Given the description of an element on the screen output the (x, y) to click on. 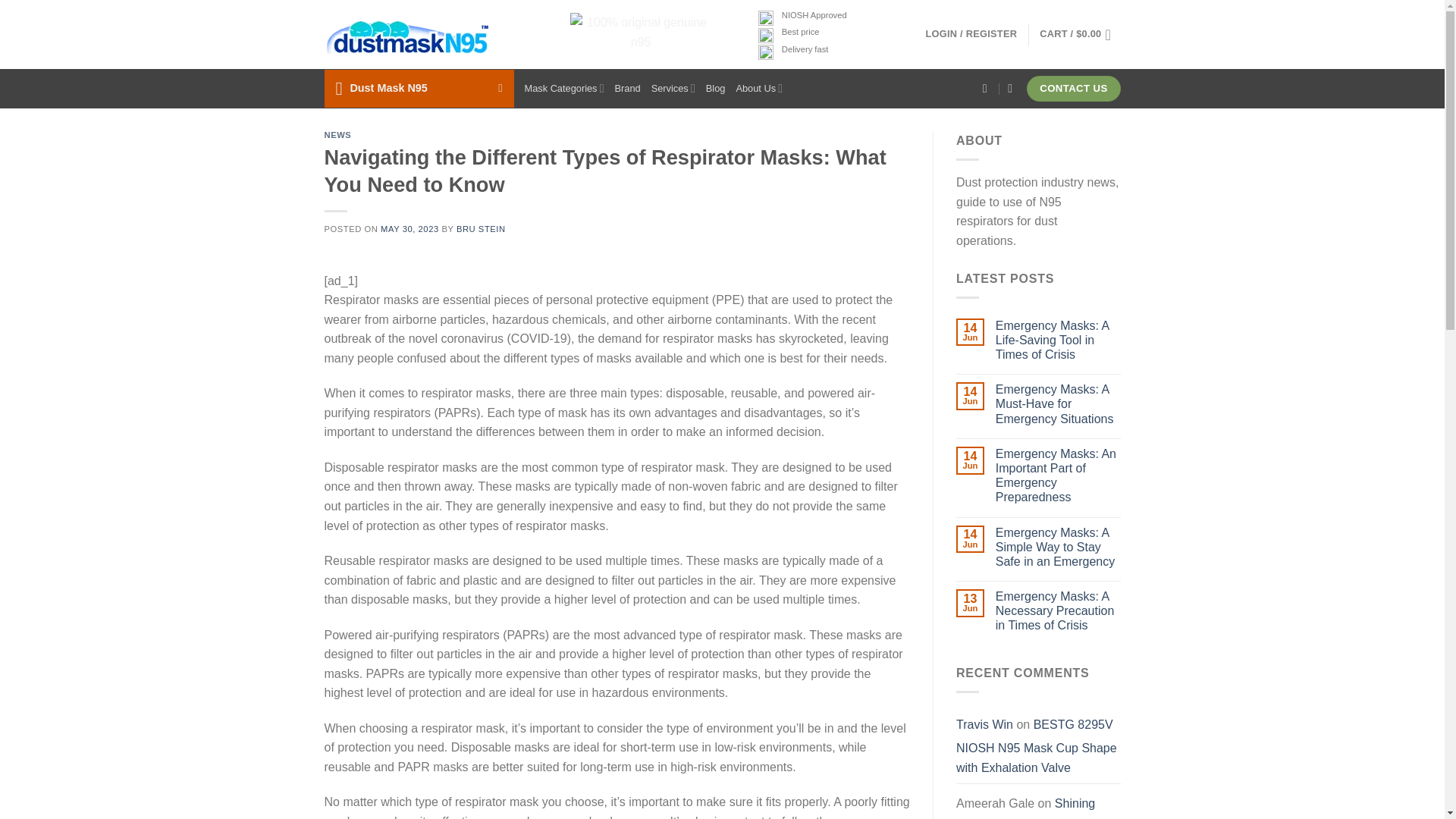
Login (970, 33)
Dust Mask N95 - N95 Dust Particulate Respirator for sale (408, 34)
Cart (1079, 34)
Services (672, 88)
Mask Categories (564, 88)
